Given the description of an element on the screen output the (x, y) to click on. 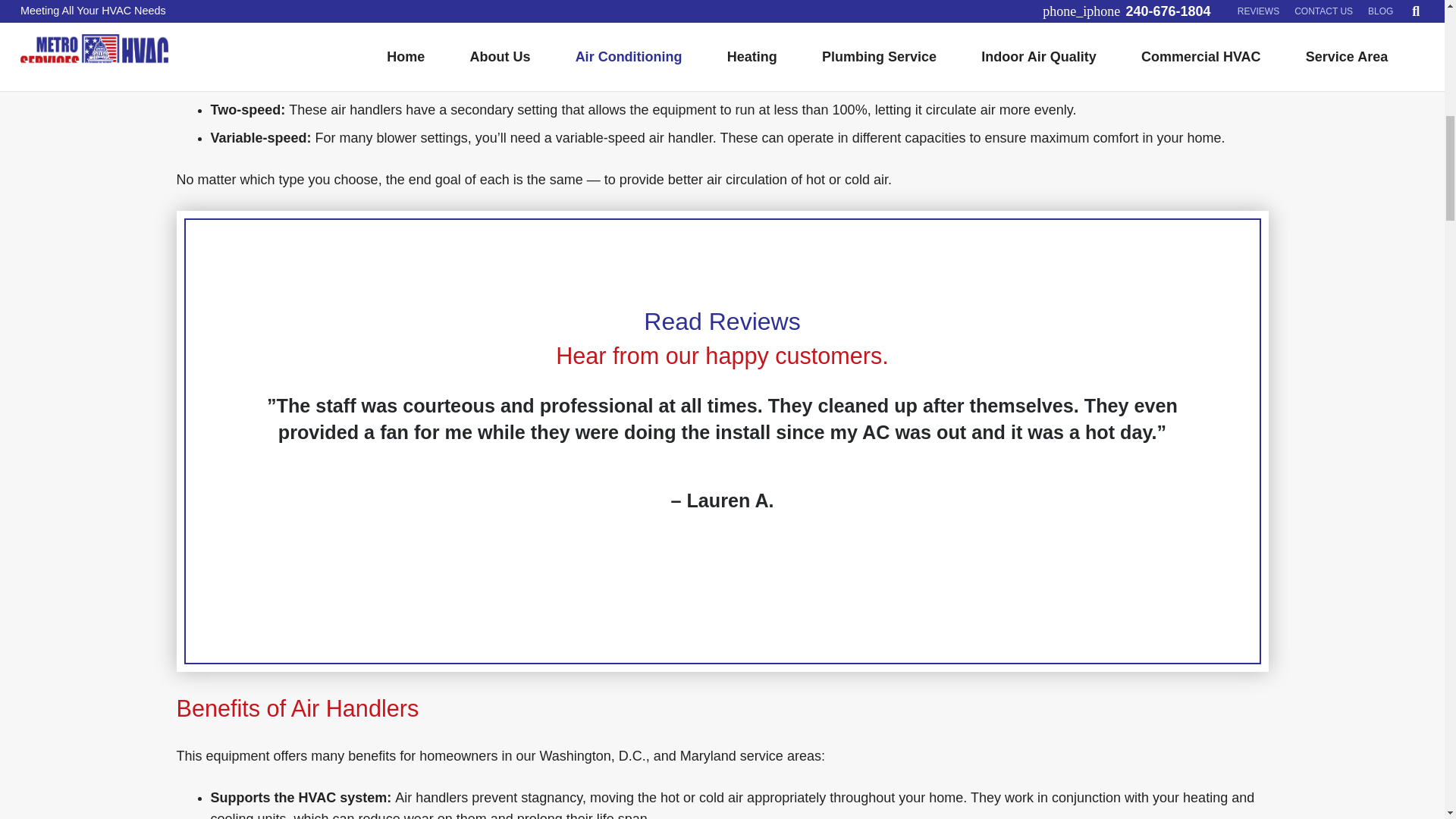
Back to top (1413, 37)
